Given the description of an element on the screen output the (x, y) to click on. 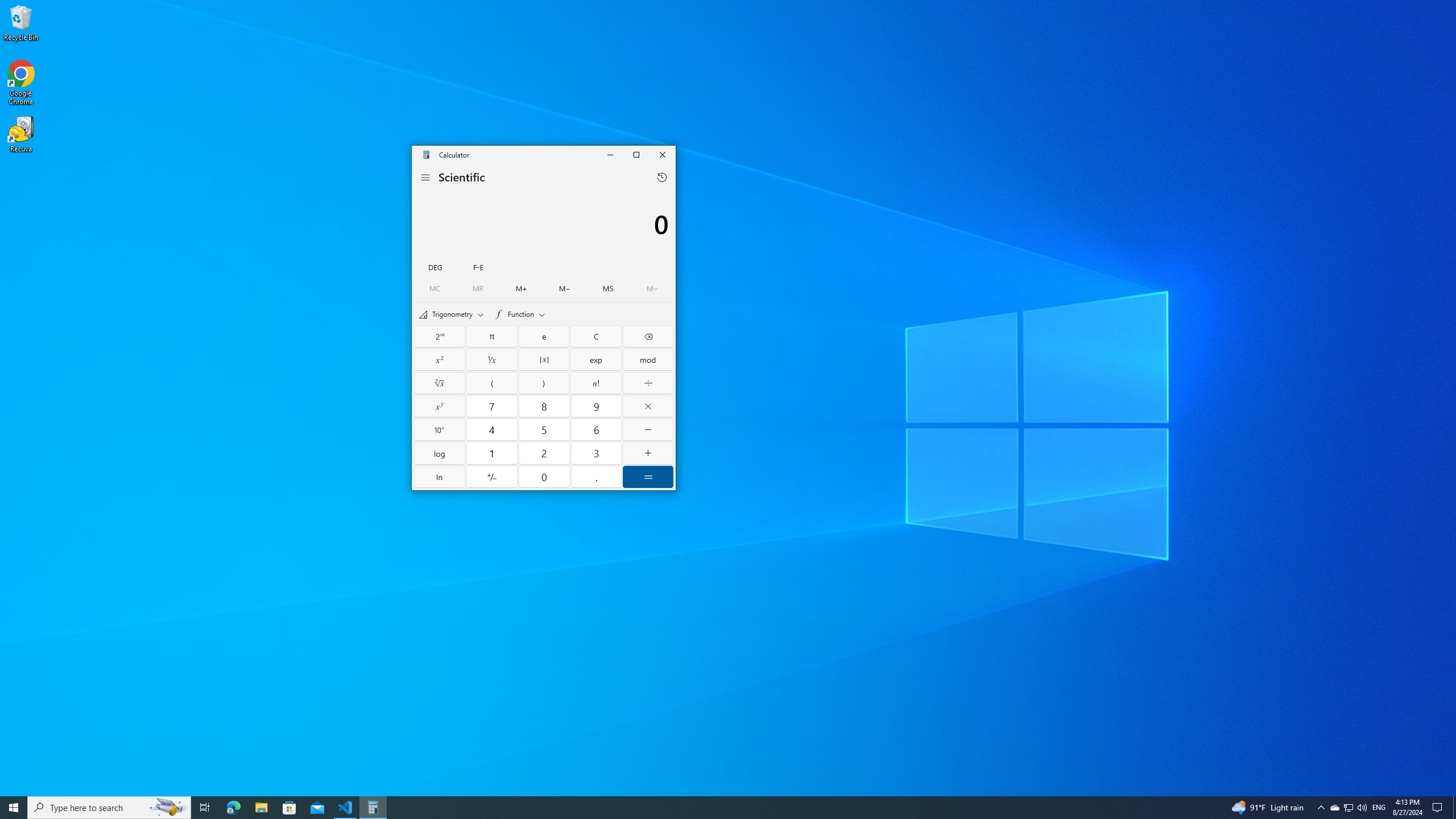
Minimize Calculator (609, 154)
Memory store (607, 288)
Functions (519, 313)
Clear all memory (434, 288)
Exponential (595, 359)
Four (490, 429)
Ten to the exponent (439, 429)
Square root (439, 382)
Euler's number (543, 336)
Open memory flyout (651, 288)
Memory add (521, 288)
